Given the description of an element on the screen output the (x, y) to click on. 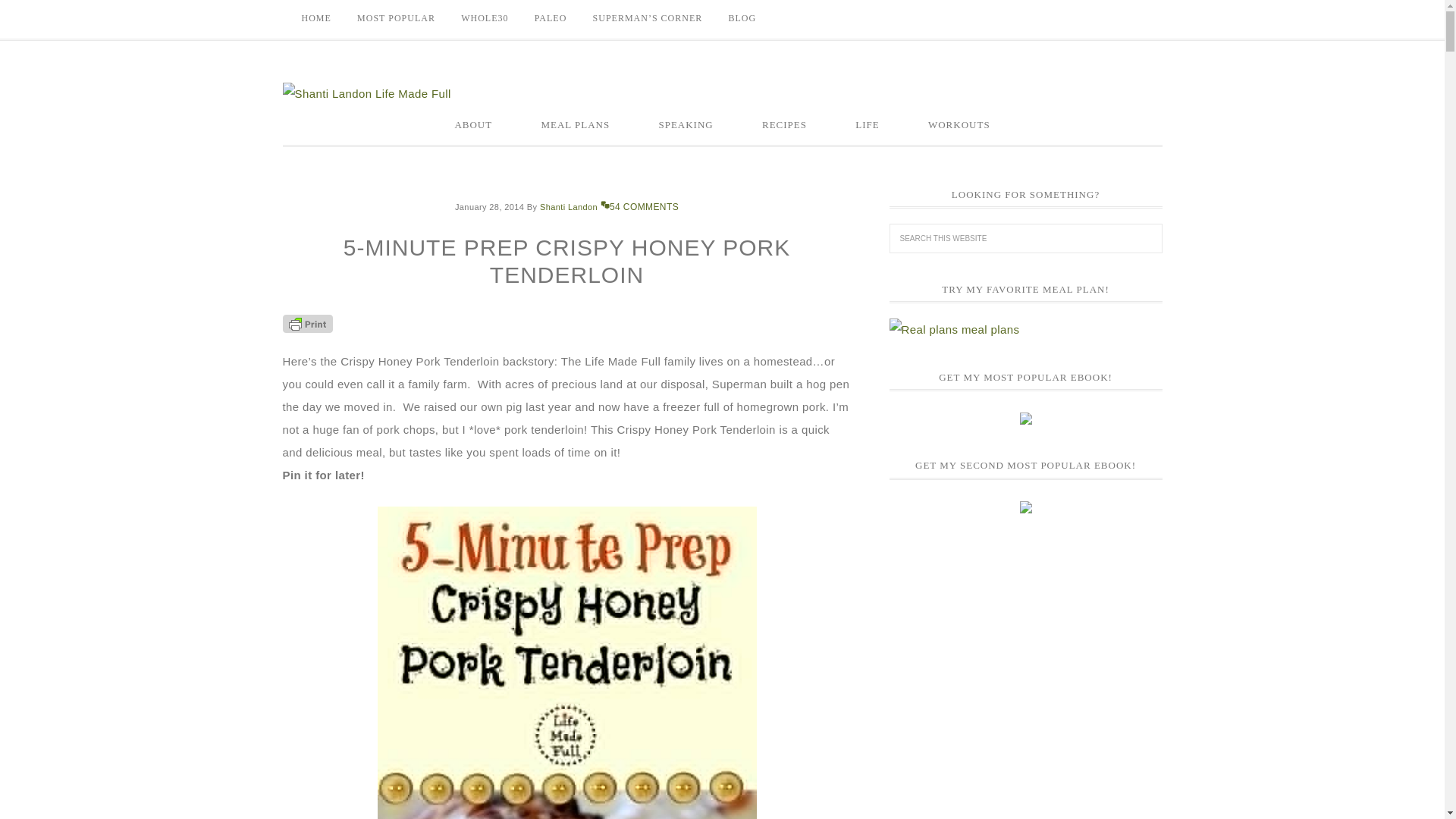
Shanti Landon (568, 205)
54 COMMENTS (638, 206)
MEAL PLANS (574, 124)
WORKOUTS (959, 124)
PALEO (550, 18)
WHOLE30 (484, 18)
SPEAKING (684, 124)
MOST POPULAR (396, 18)
ABOUT (472, 124)
RECIPES (784, 124)
